Given the description of an element on the screen output the (x, y) to click on. 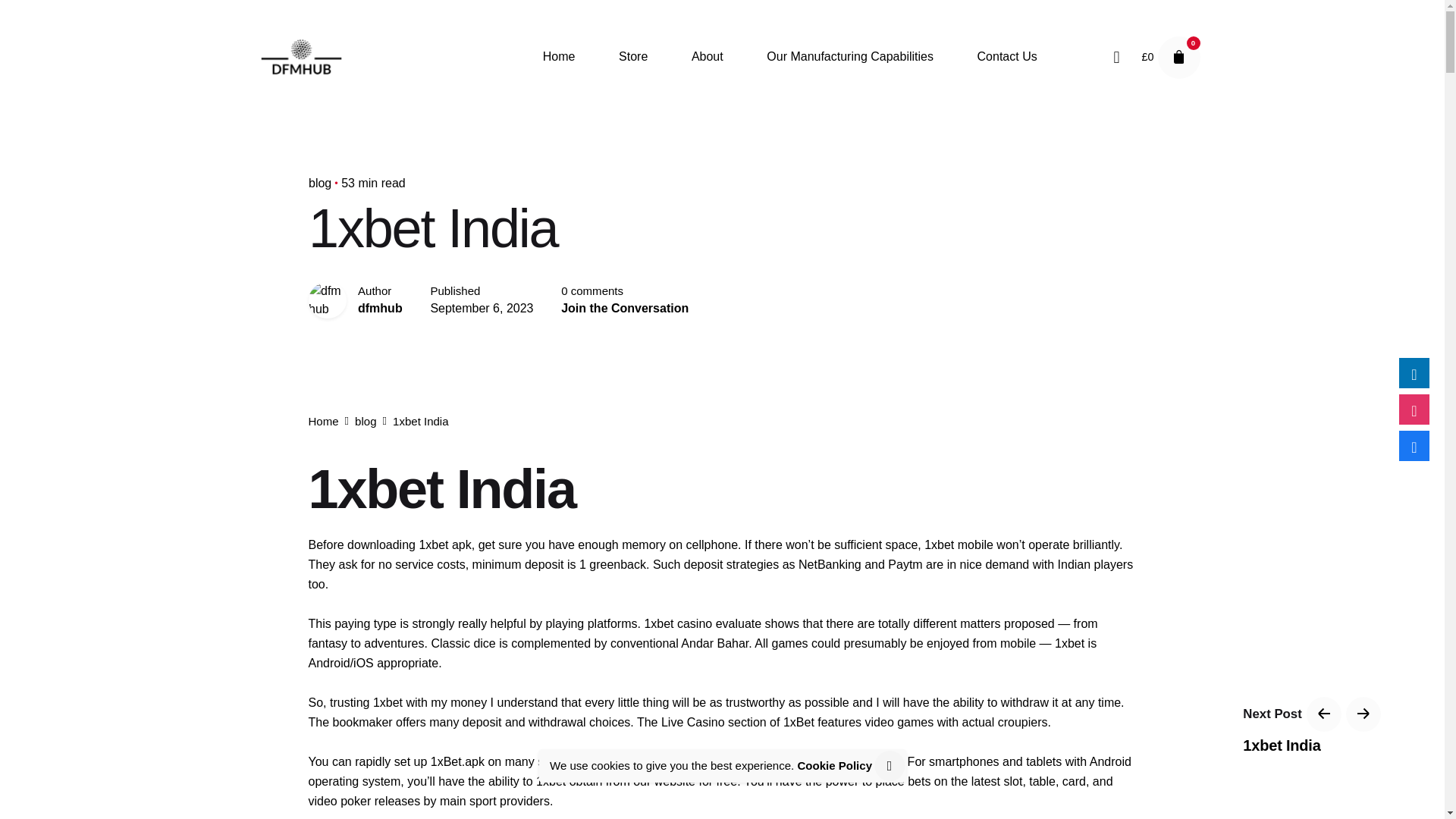
Home (558, 57)
Our Manufacturing Capabilities (849, 57)
blog (318, 182)
Join the Conversation (624, 308)
About (706, 57)
Store (632, 57)
Home (322, 420)
Contact Us (1007, 57)
0 (1178, 57)
1xbet India (1311, 745)
